Given the description of an element on the screen output the (x, y) to click on. 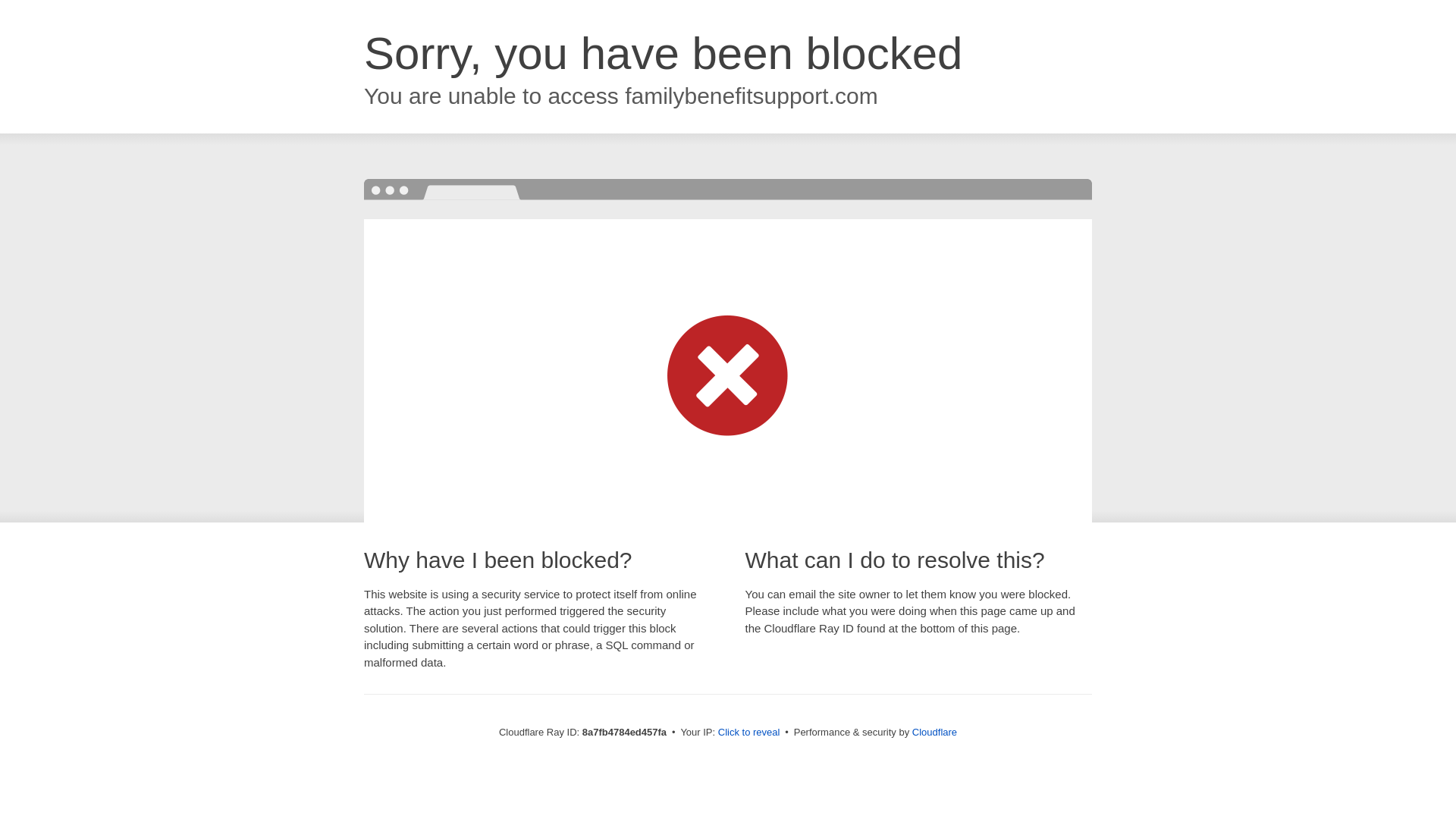
Click to reveal (748, 732)
Cloudflare (934, 731)
